Given the description of an element on the screen output the (x, y) to click on. 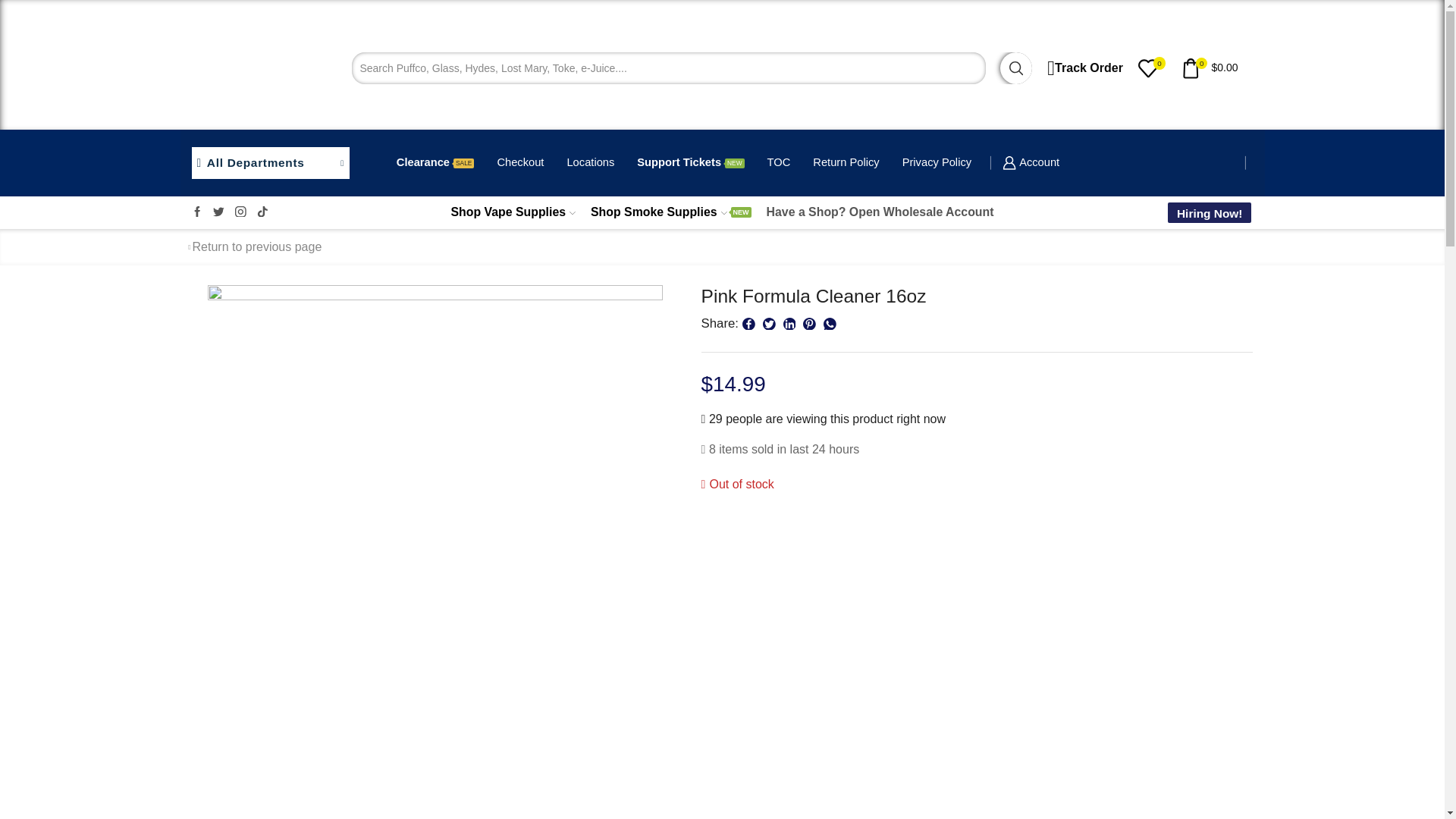
Track Order (1084, 68)
